Given the description of an element on the screen output the (x, y) to click on. 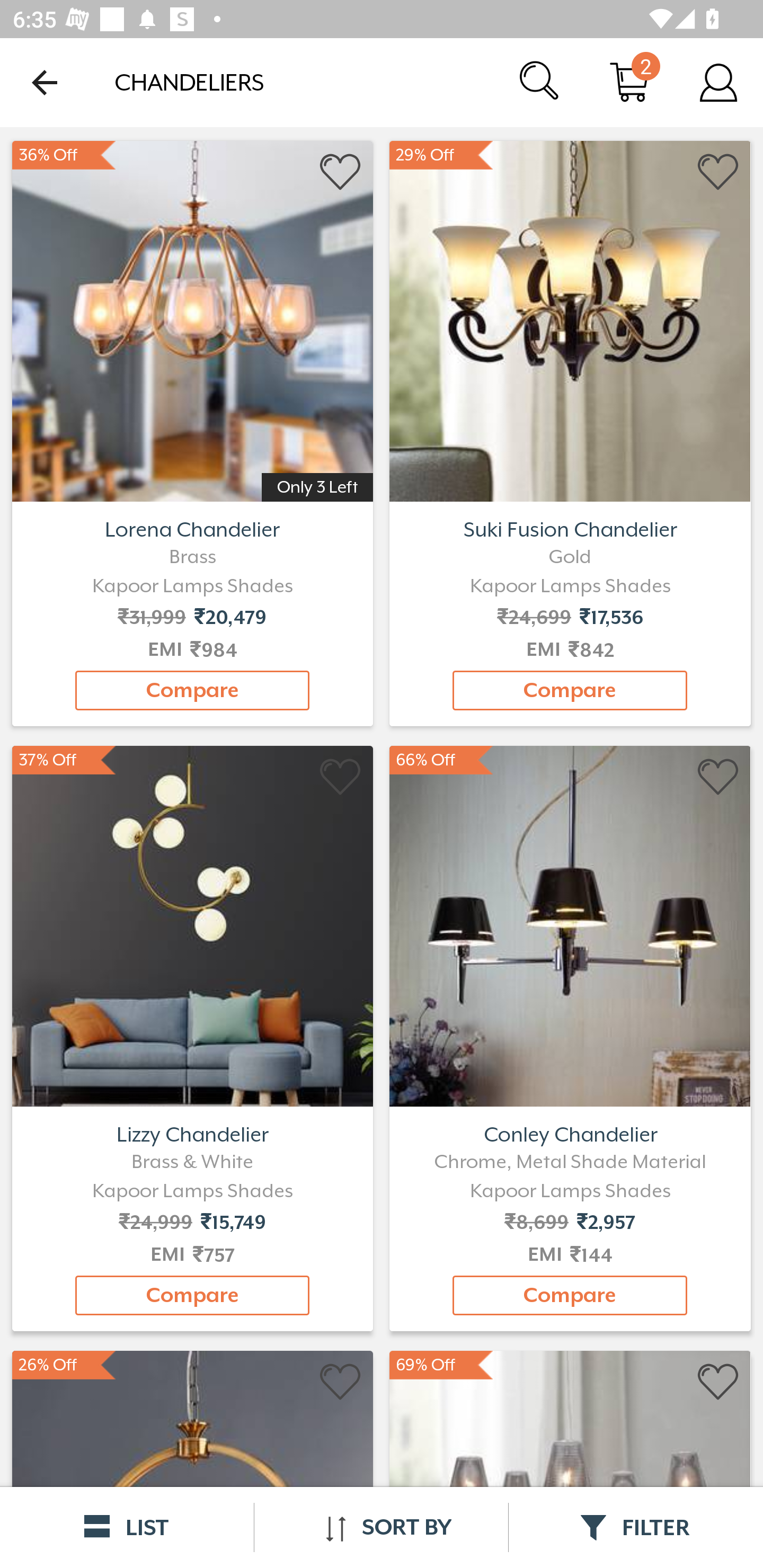
Navigate up (44, 82)
Search (540, 81)
Cart (629, 81)
Account Details (718, 81)
 (341, 172)
 (718, 172)
Compare (192, 690)
Compare (569, 690)
 (341, 777)
 (718, 777)
Compare (192, 1295)
Compare (569, 1295)
 (341, 1382)
 (718, 1382)
 LIST (127, 1527)
SORT BY (381, 1527)
 FILTER (635, 1527)
